Given the description of an element on the screen output the (x, y) to click on. 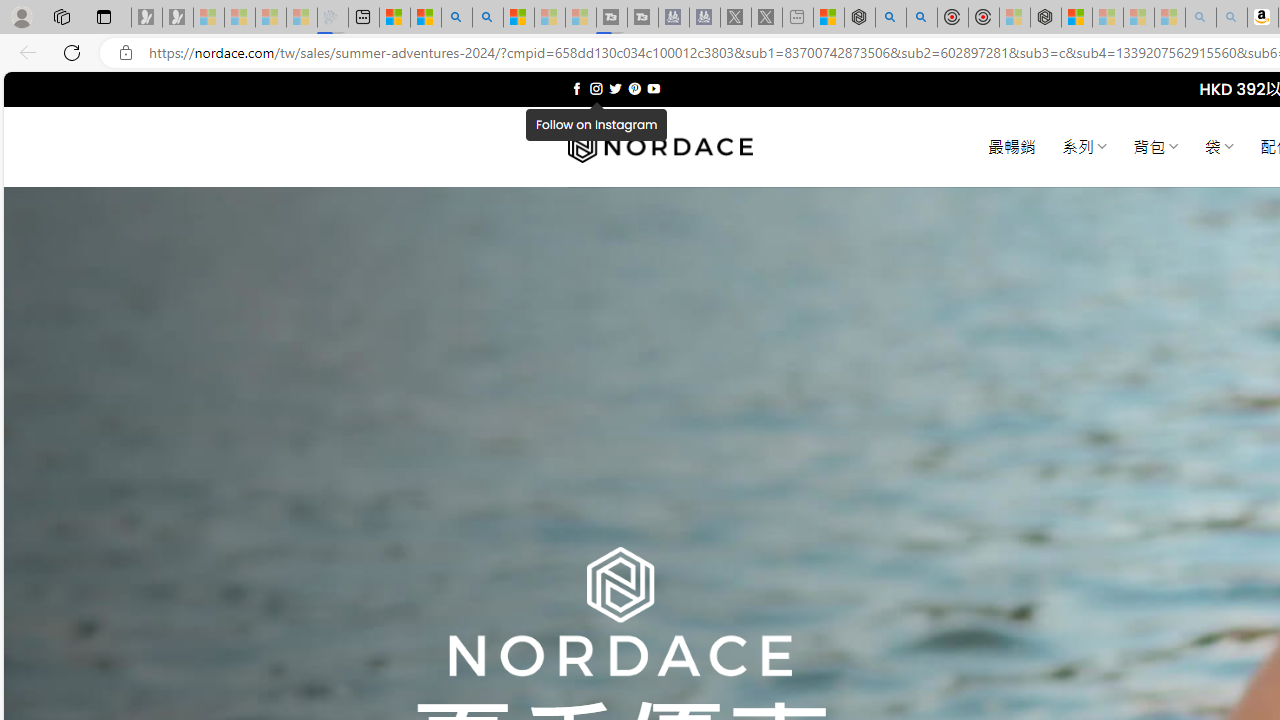
Amazon Echo Dot PNG - Search Images - Sleeping (1231, 17)
Follow on Instagram (596, 88)
Back (24, 52)
Wildlife - MSN (828, 17)
